Given the description of an element on the screen output the (x, y) to click on. 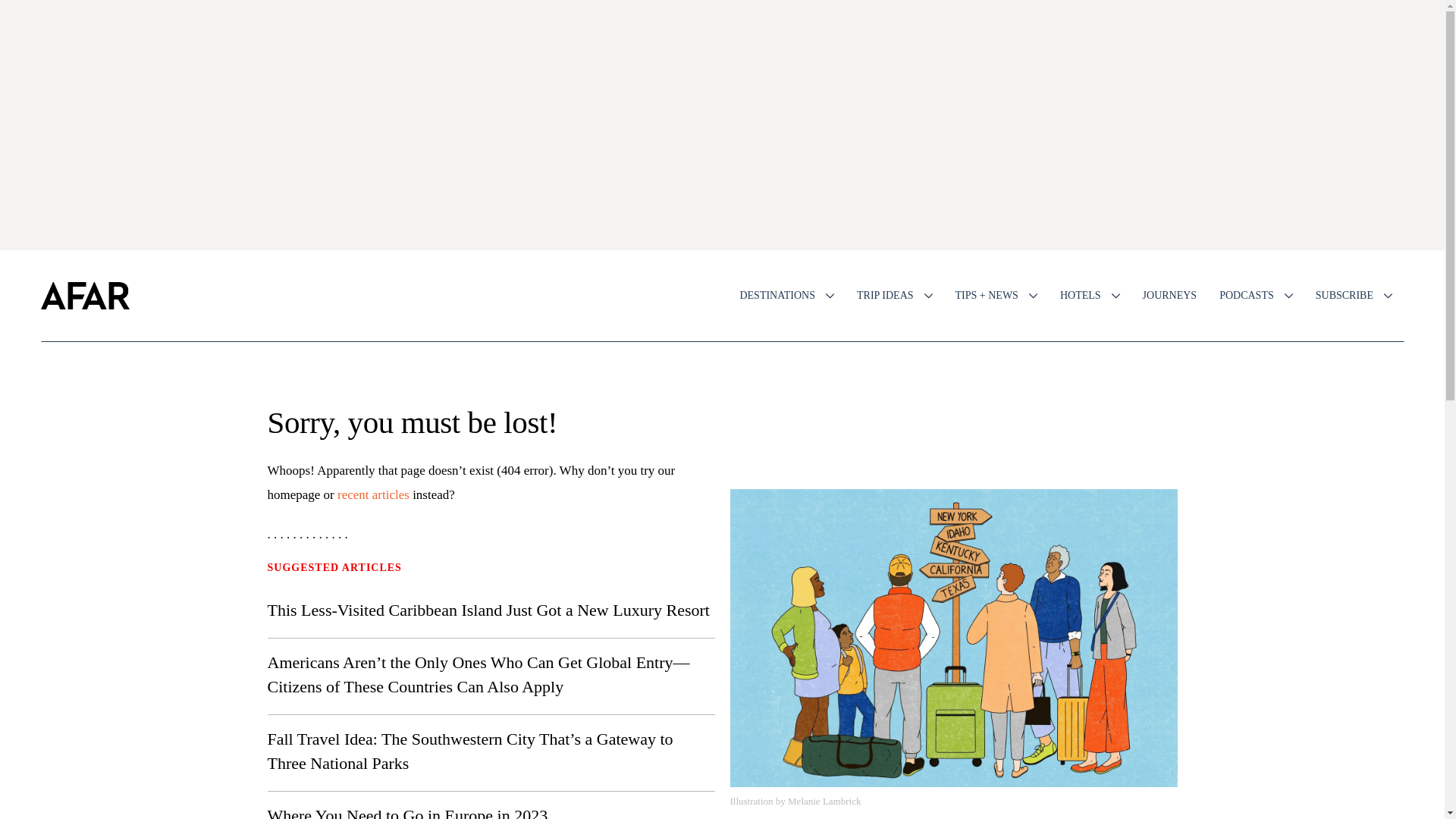
Where You Need to Go in Europe in 2023 (406, 812)
